Given the description of an element on the screen output the (x, y) to click on. 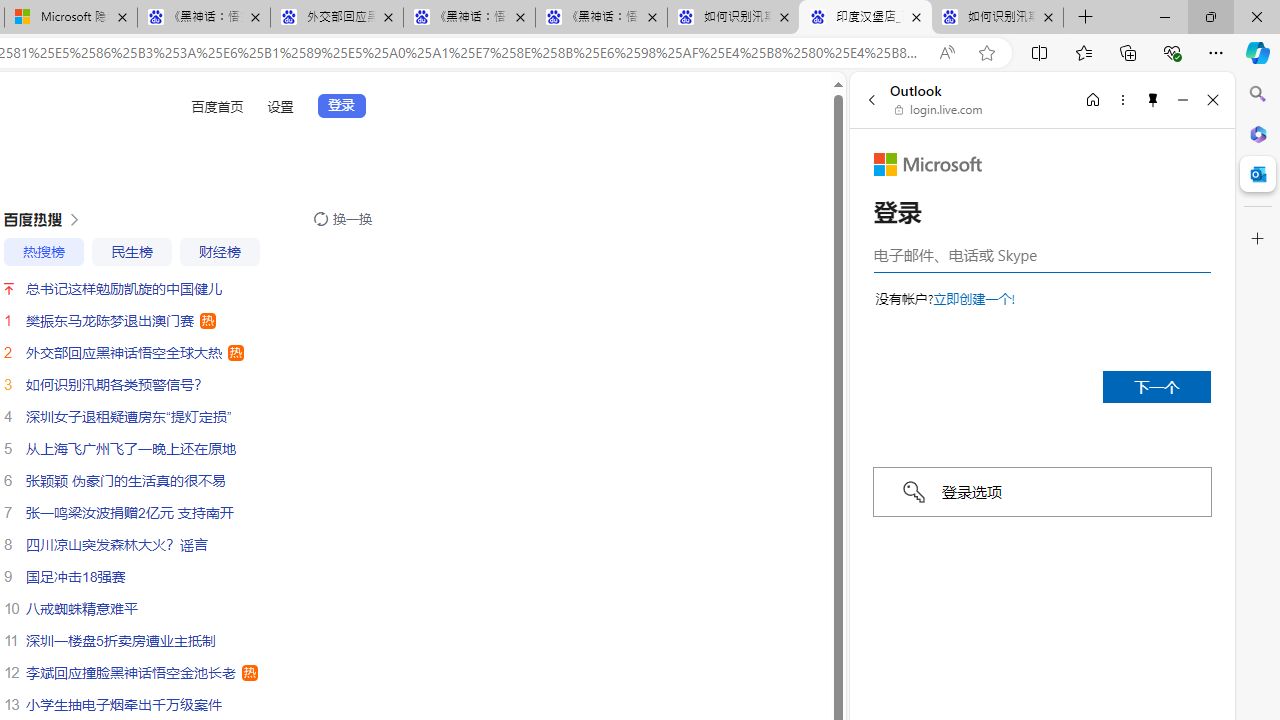
Home (1093, 99)
Close Outlook pane (1258, 174)
